Given the description of an element on the screen output the (x, y) to click on. 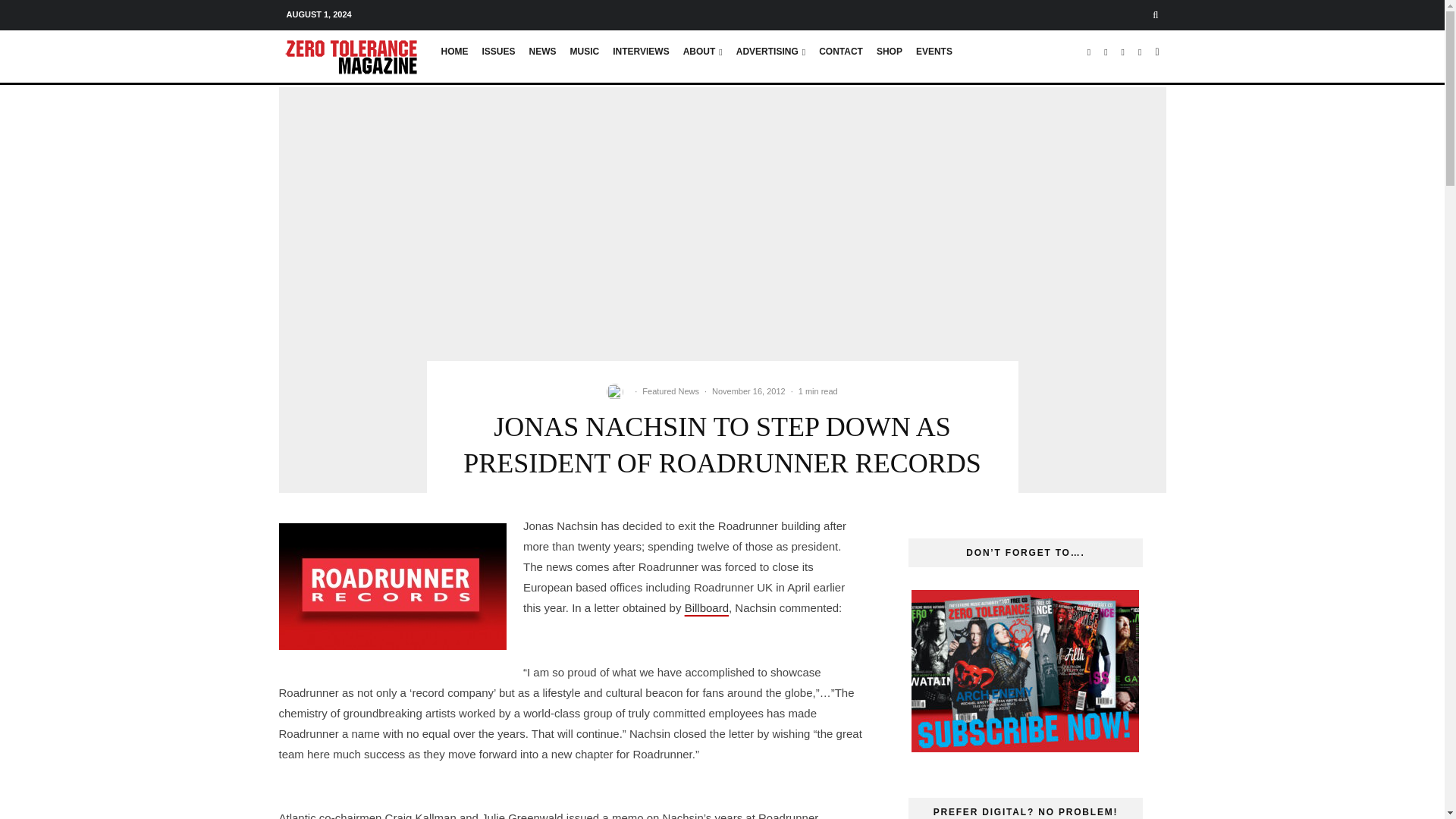
CONTACT (840, 56)
Billboard (706, 607)
ISSUES (497, 56)
ADVERTISING (770, 56)
ABOUT (703, 56)
Featured News (670, 391)
INTERVIEWS (640, 56)
EVENTS (933, 56)
